Given the description of an element on the screen output the (x, y) to click on. 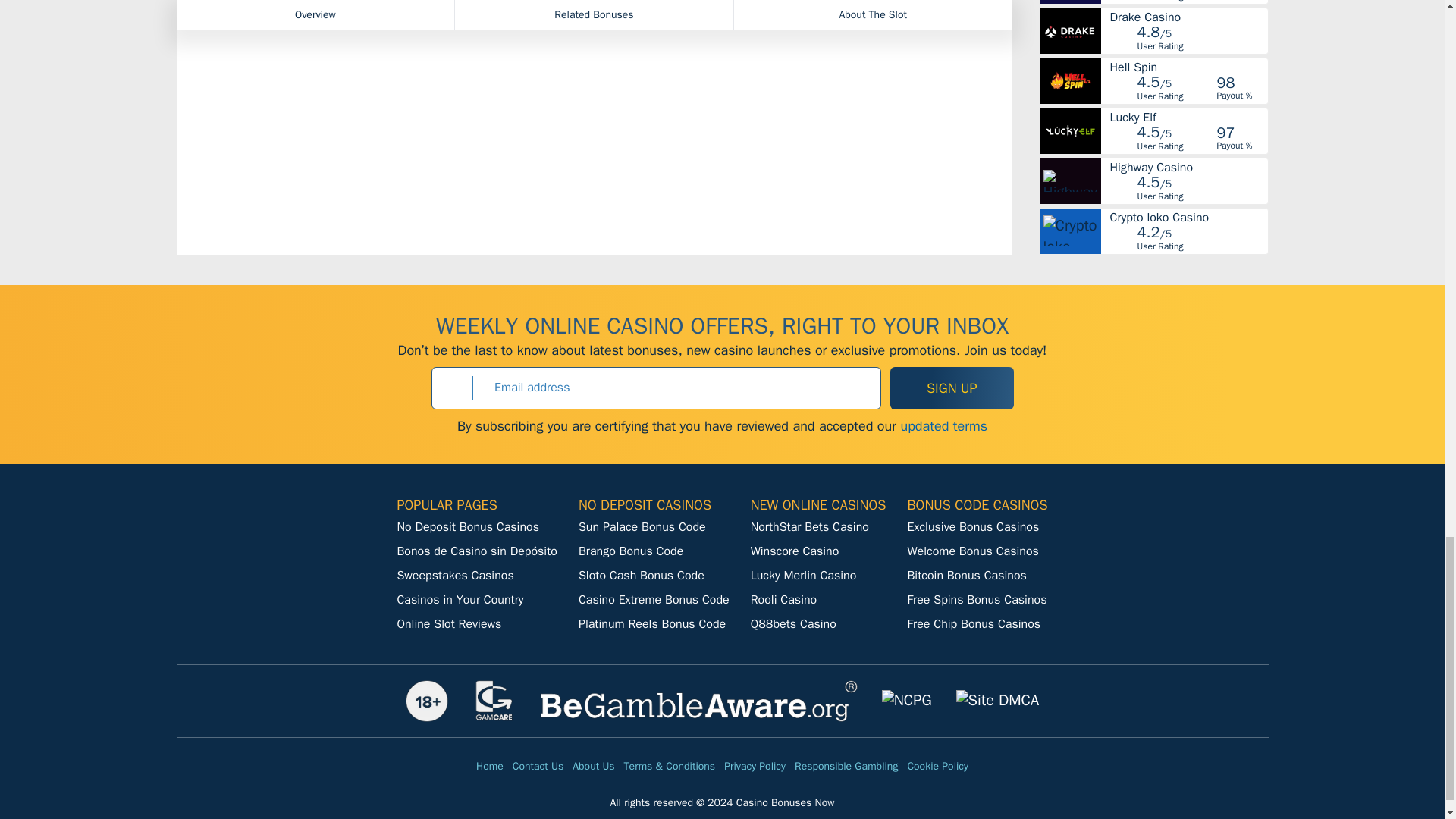
Crypto loko Casino (1187, 216)
Drake Casino (1187, 16)
Highway Casino (1187, 166)
Hell Spin (1187, 66)
Lucky Elf (1187, 116)
